Given the description of an element on the screen output the (x, y) to click on. 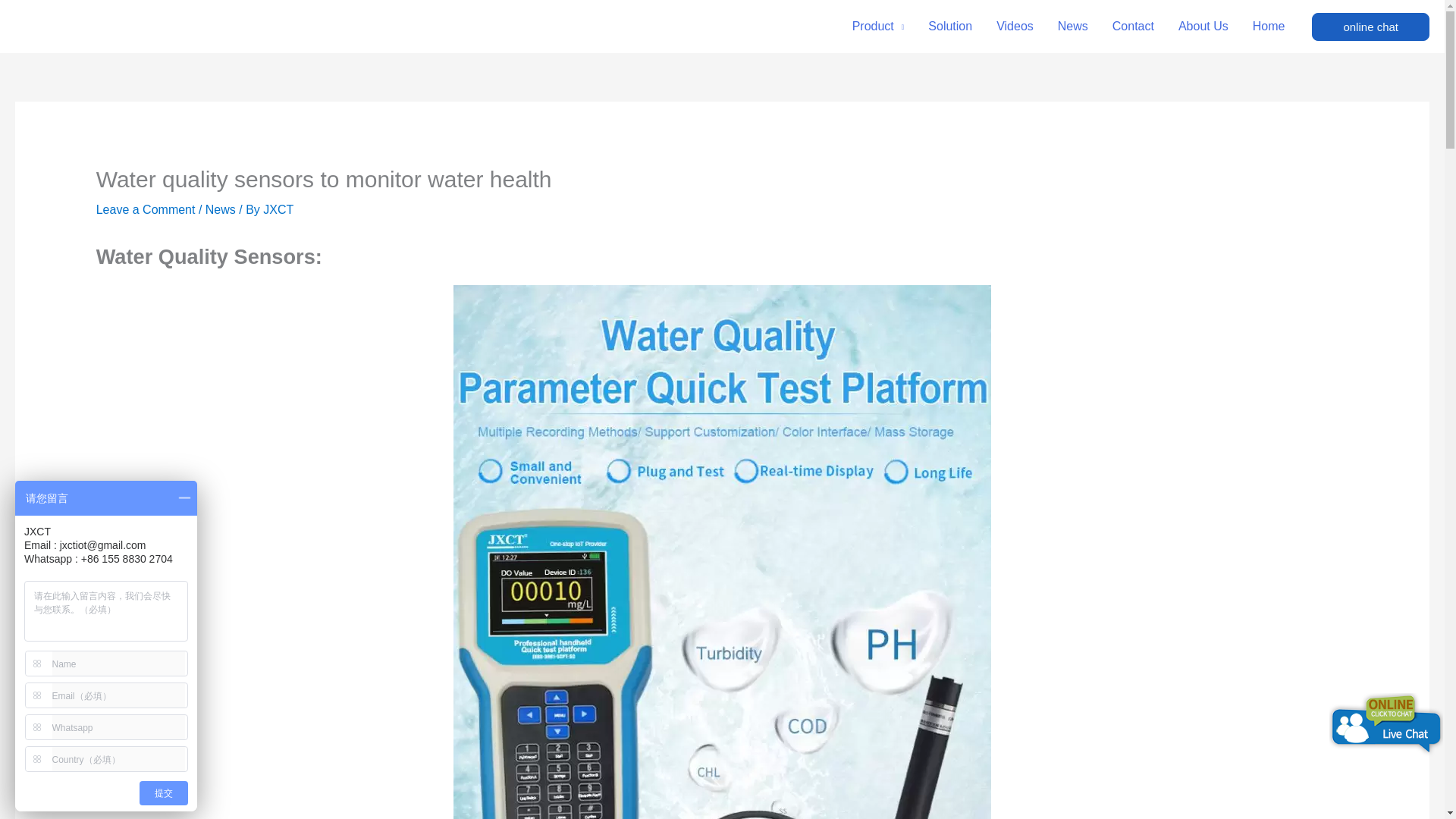
About Us (1203, 26)
News (220, 209)
News (1072, 26)
Leave a Comment (145, 209)
Videos (1014, 26)
online chat (1370, 26)
Home (1268, 26)
Solution (949, 26)
Product (878, 26)
View all posts by JXCT (278, 209)
Contact (1133, 26)
JXCT (278, 209)
